Given the description of an element on the screen output the (x, y) to click on. 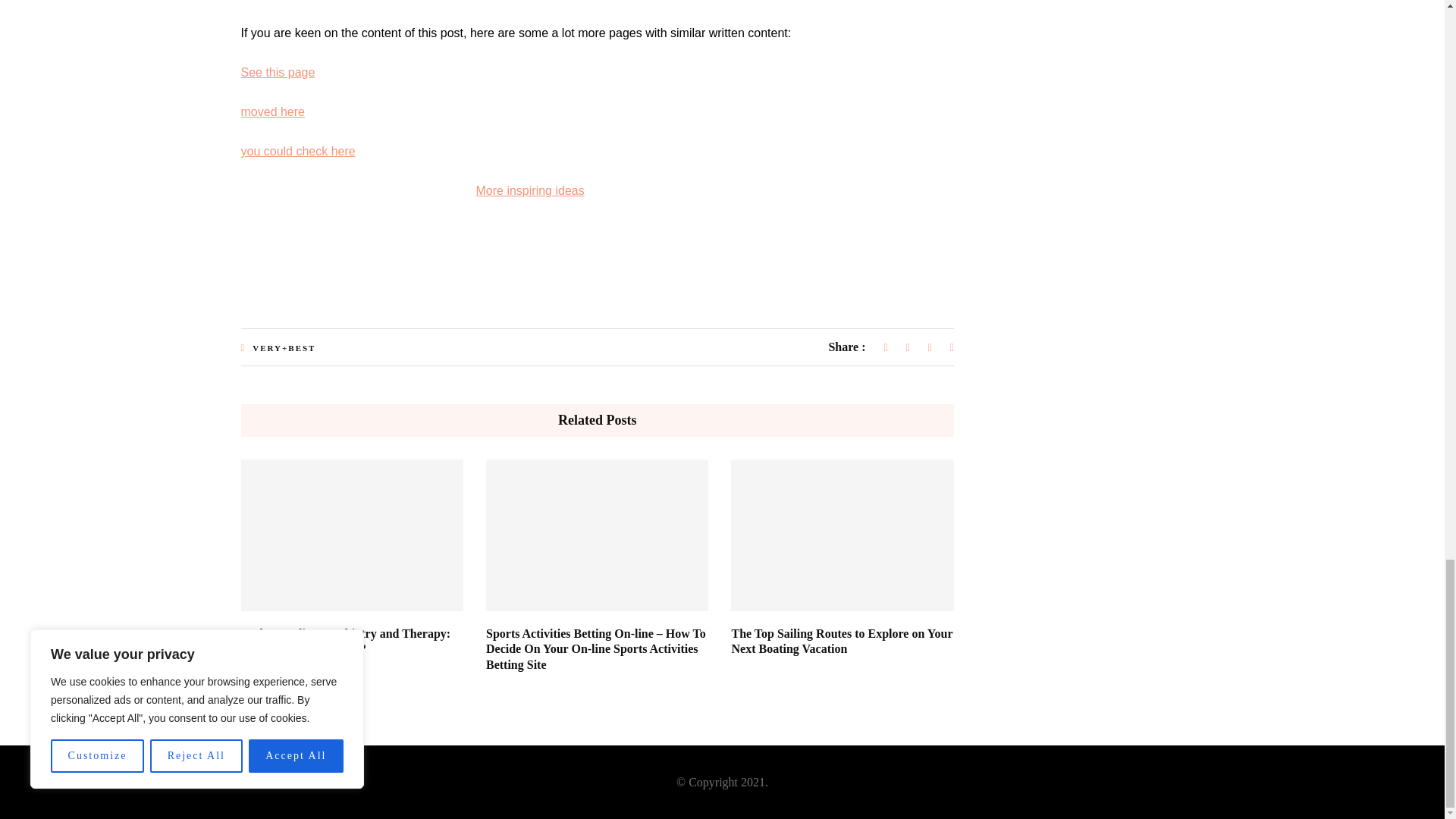
More inspiring ideas (530, 190)
Understanding Psychiatry and Therapy: What Sets Them Apart? (346, 641)
you could check here (298, 151)
See this page (278, 72)
moved here (273, 111)
